Given the description of an element on the screen output the (x, y) to click on. 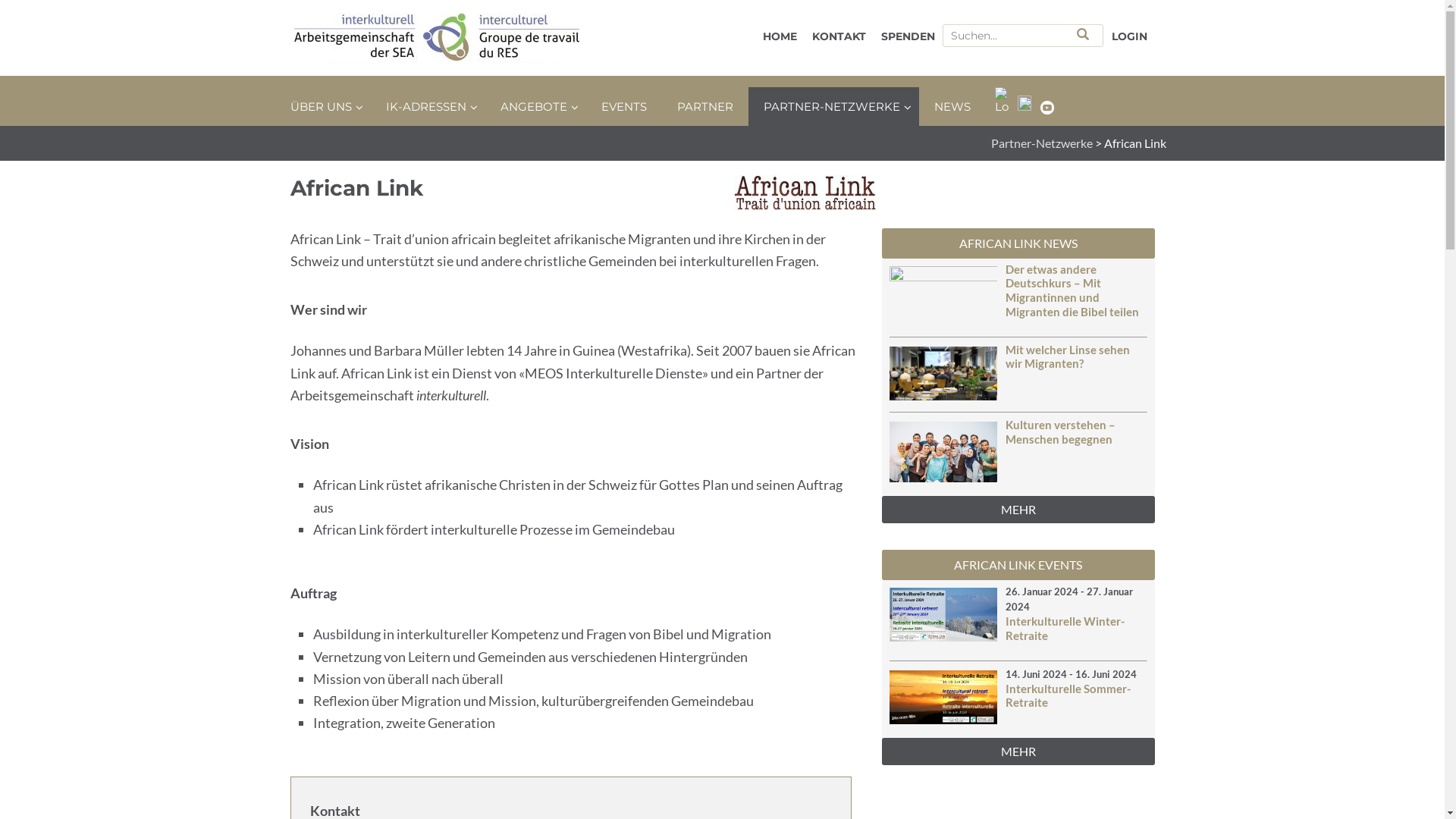
Search Element type: text (1082, 33)
SEA interkulturell Element type: text (441, 37)
MEHR Element type: text (1018, 750)
MEHR Element type: text (1018, 509)
KONTAKT Element type: text (837, 36)
SPENDEN Element type: text (907, 36)
PARTNER Element type: text (704, 106)
Logo_Telegram Element type: hover (1001, 100)
EVENTS Element type: text (623, 106)
Partner-Netzwerke Element type: text (1041, 141)
IK-ADRESSEN Element type: text (427, 106)
PARTNER-NETZWERKE Element type: text (832, 106)
ANGEBOTE Element type: text (535, 106)
Interkulturelle Winter-Retraite Element type: text (1064, 628)
LOGIN Element type: text (1129, 36)
NEWS Element type: text (952, 106)
Mit welcher Linse sehen wir Migranten? Element type: text (1067, 356)
HOME Element type: text (779, 36)
Interkulturelle Sommer-Retraite Element type: text (1067, 695)
